Given the description of an element on the screen output the (x, y) to click on. 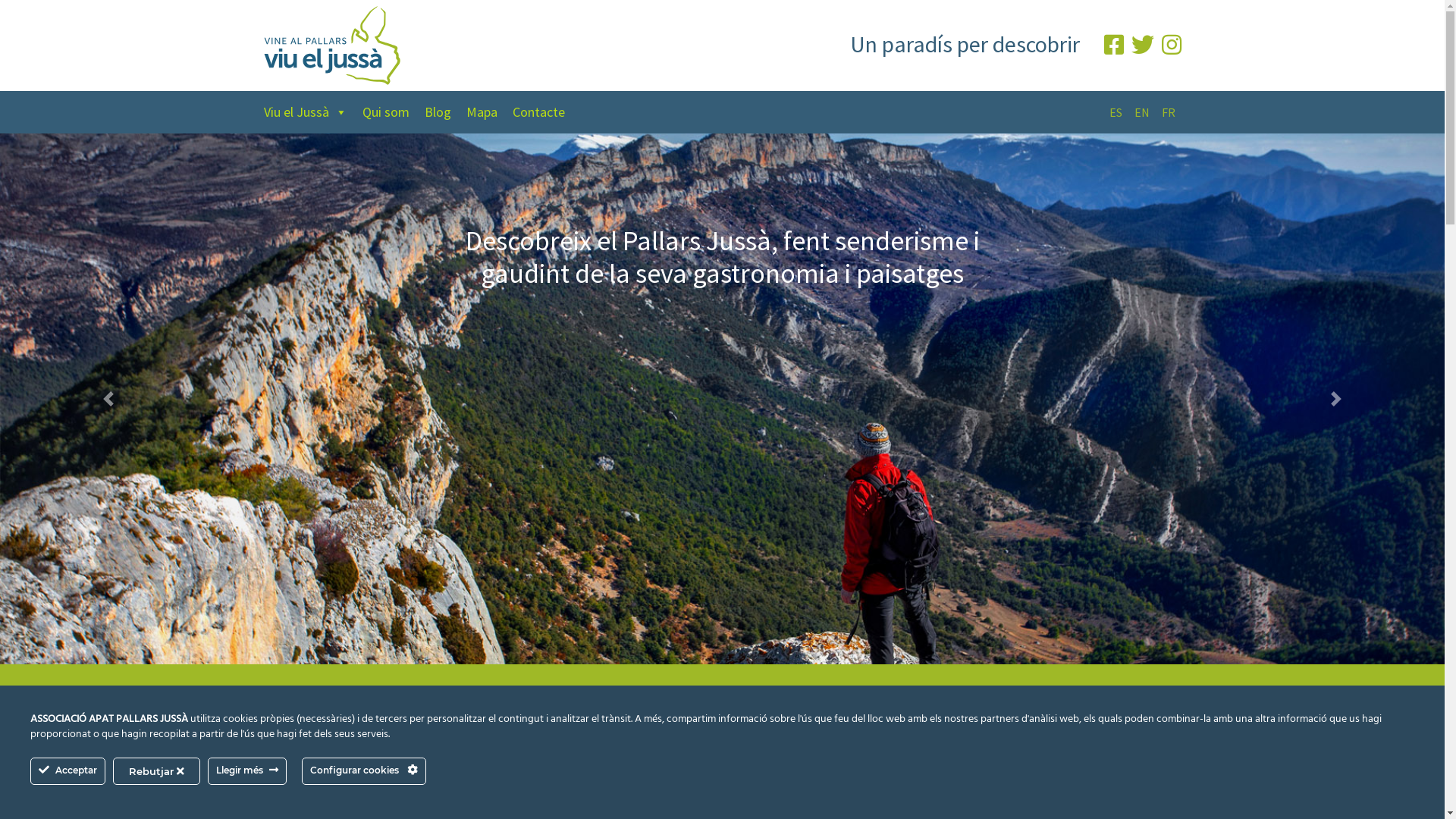
Rebutjar Element type: text (156, 771)
EN Element type: text (1141, 111)
FR Element type: text (1168, 111)
Blog Element type: text (445, 112)
Contacte Element type: text (546, 112)
ES Element type: text (1114, 111)
Mapa Element type: text (488, 112)
Previous Element type: text (108, 398)
Next Element type: text (1335, 398)
Qui som Element type: text (393, 112)
